Given the description of an element on the screen output the (x, y) to click on. 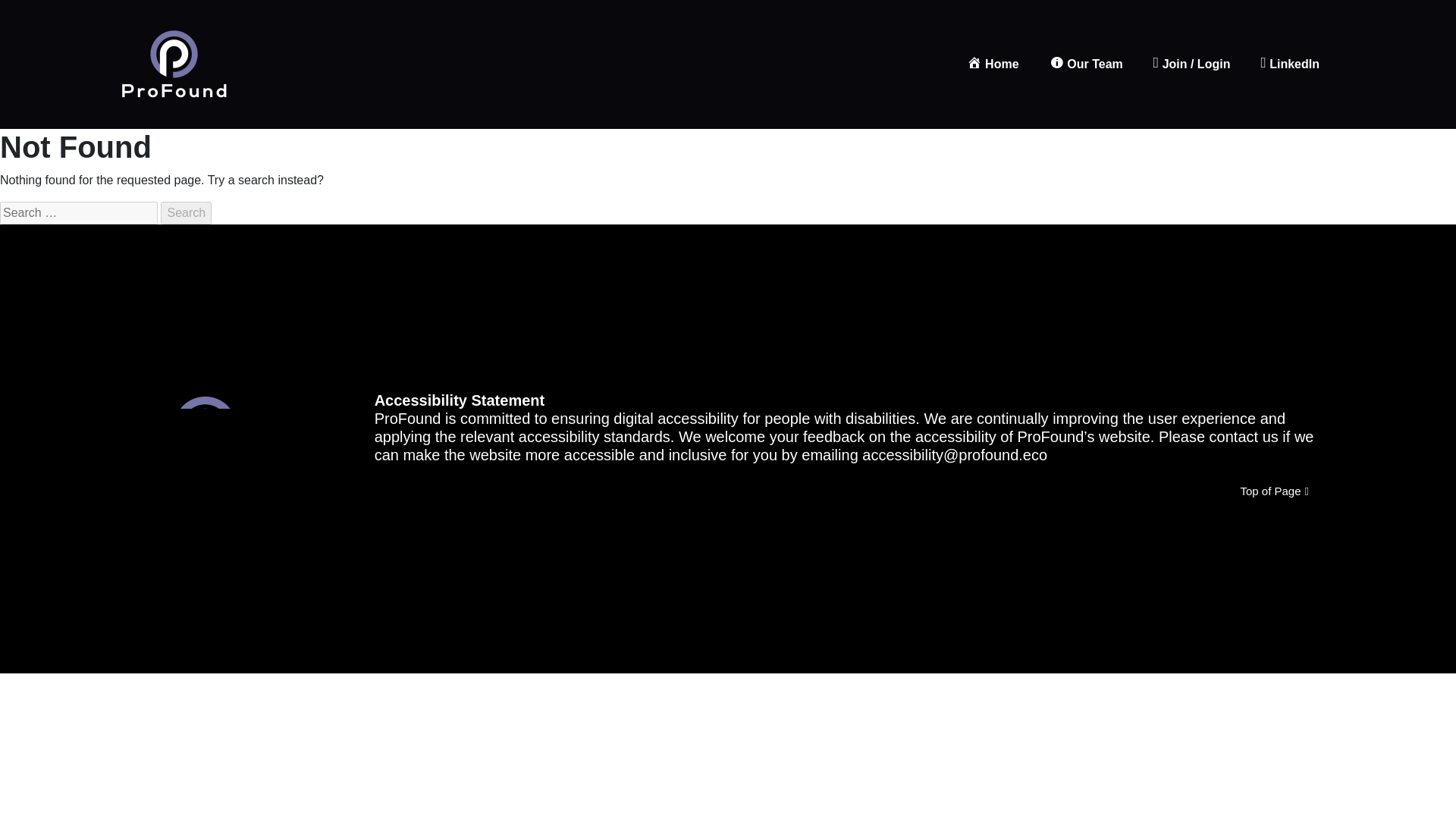
LinkedIn (1289, 63)
Search (185, 212)
Home (992, 63)
Top of Page (1273, 490)
Our Team (1085, 63)
Search (185, 212)
Search (185, 212)
